Given the description of an element on the screen output the (x, y) to click on. 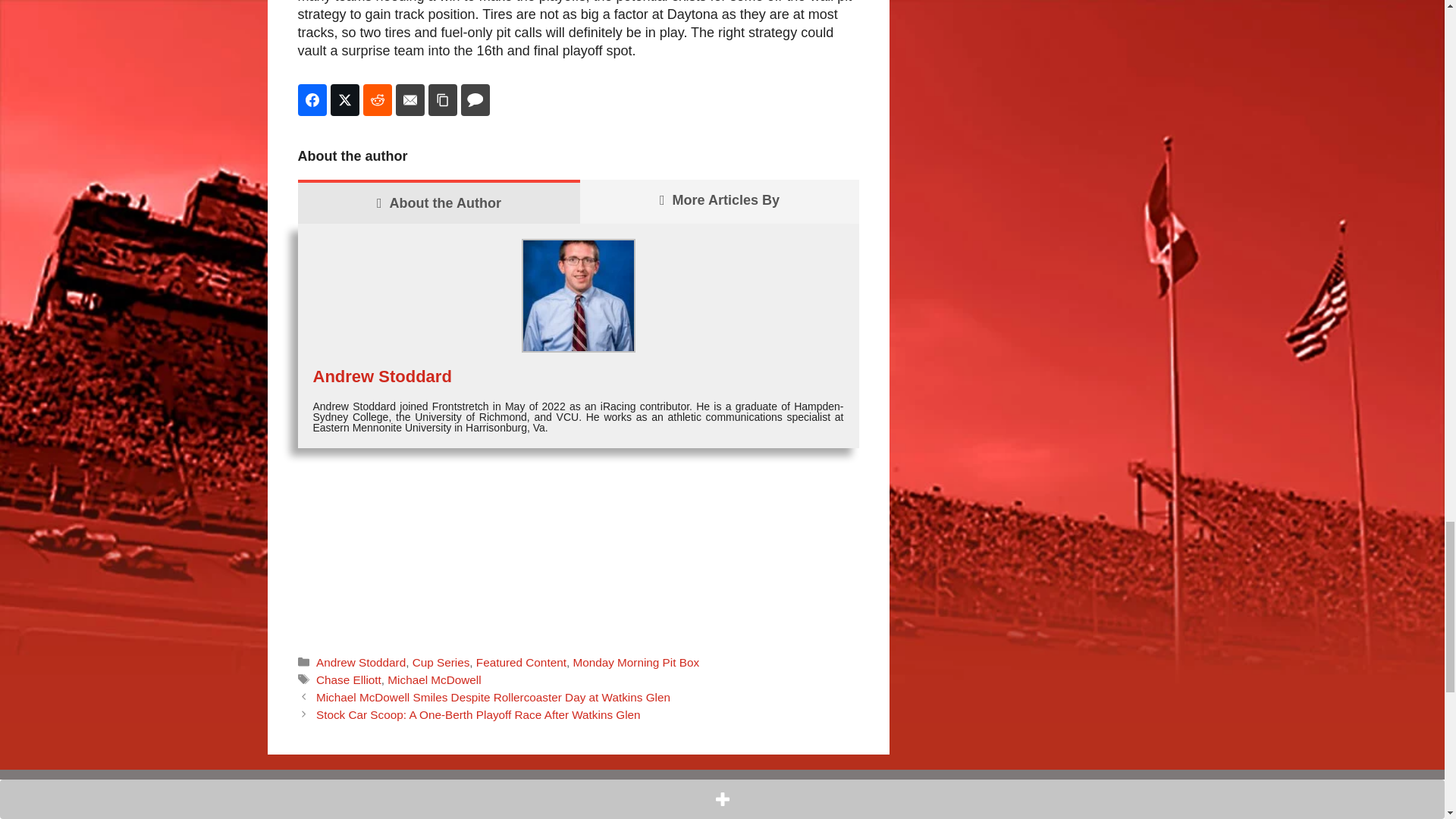
Share on Reddit (376, 100)
Share on Twitter (344, 100)
Share on Comments (475, 100)
Share on Email (410, 100)
Andrew Stoddard (382, 375)
Share on Copy Link (442, 100)
Andrew Stoddard (360, 662)
Share on Facebook (311, 100)
